Given the description of an element on the screen output the (x, y) to click on. 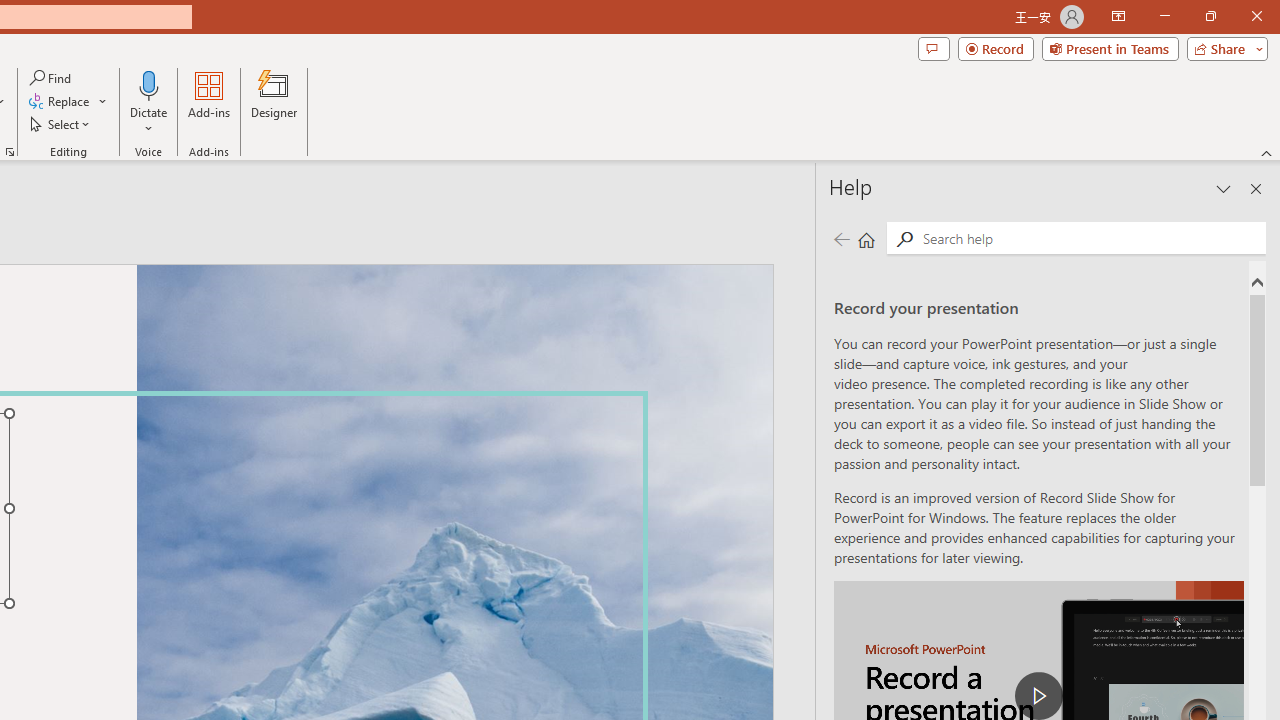
play Record a Presentation (1038, 695)
